Given the description of an element on the screen output the (x, y) to click on. 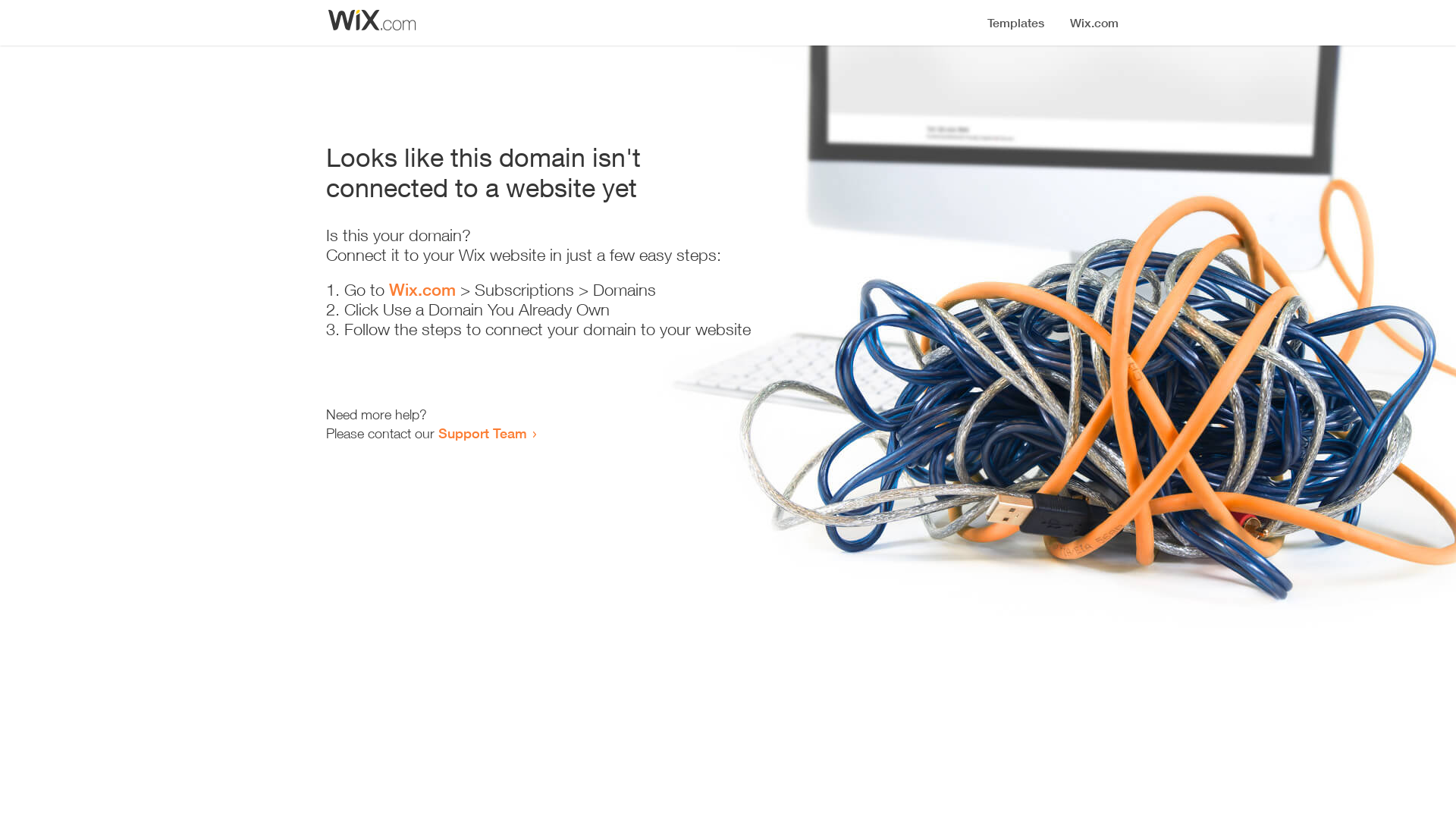
Wix.com Element type: text (422, 289)
Support Team Element type: text (482, 432)
